Given the description of an element on the screen output the (x, y) to click on. 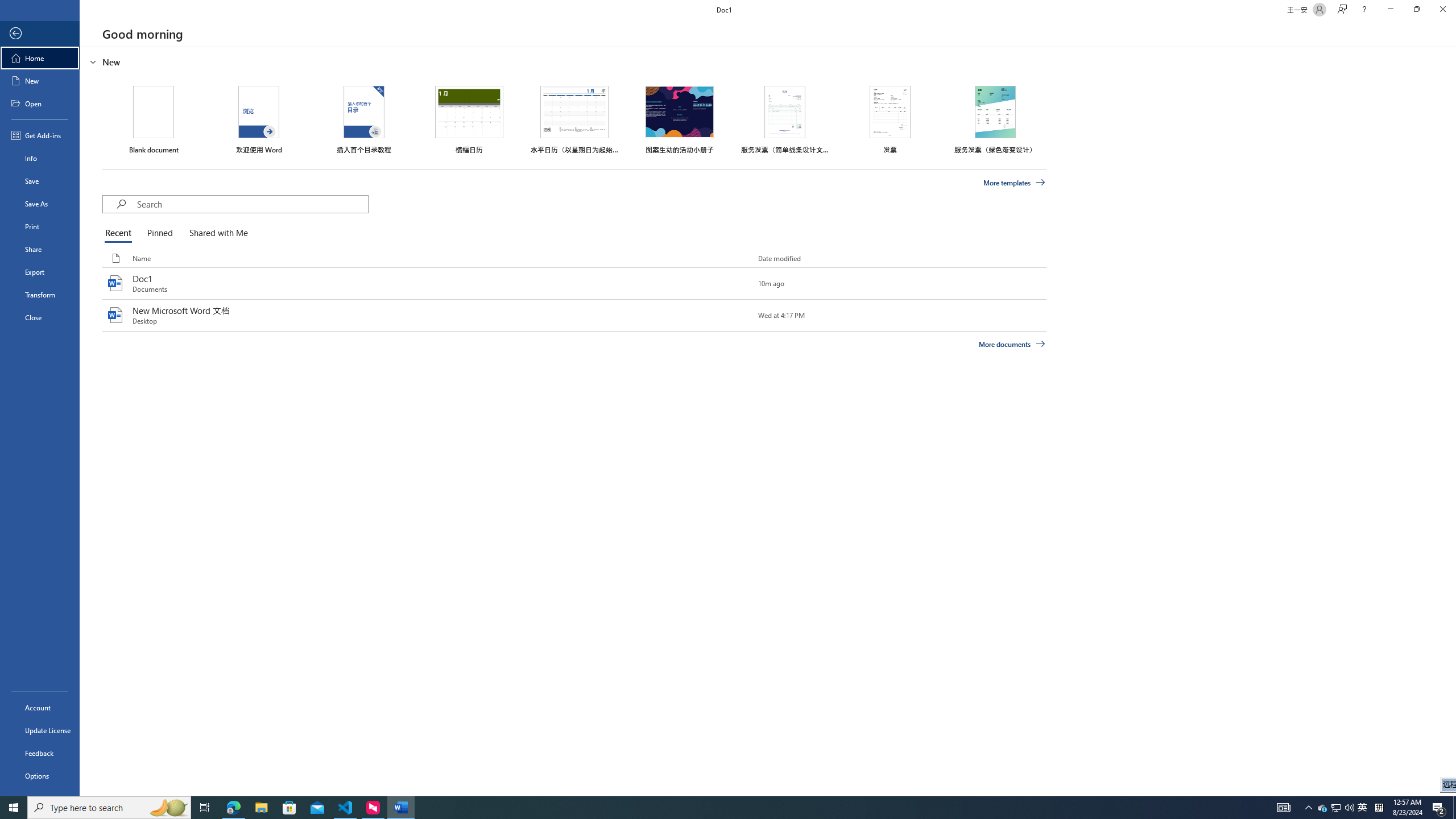
Back (40, 33)
Class: NetUIScrollBar (1450, 421)
Share (40, 248)
Restore Down (1416, 9)
Pin this item to the list (739, 314)
Save (40, 180)
Shared with Me (215, 233)
Update License (40, 730)
Print (40, 225)
Home (40, 57)
